Given the description of an element on the screen output the (x, y) to click on. 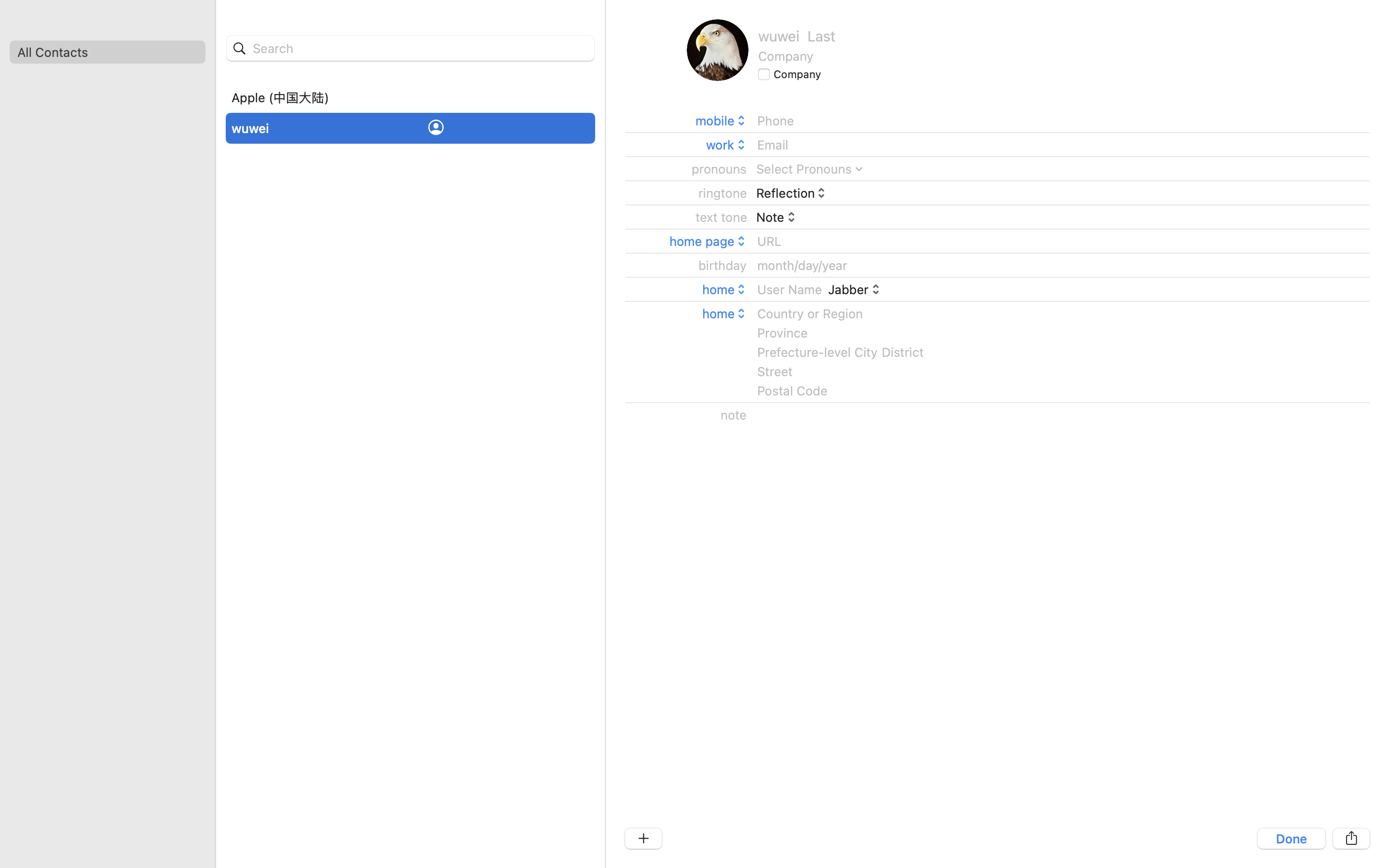
work Element type: AXStaticText (726, 144)
wuwei Element type: AXStaticText (250, 127)
birthday Element type: AXStaticText (722, 264)
Apple (中国大陆) Element type: AXStaticText (279, 97)
